Given the description of an element on the screen output the (x, y) to click on. 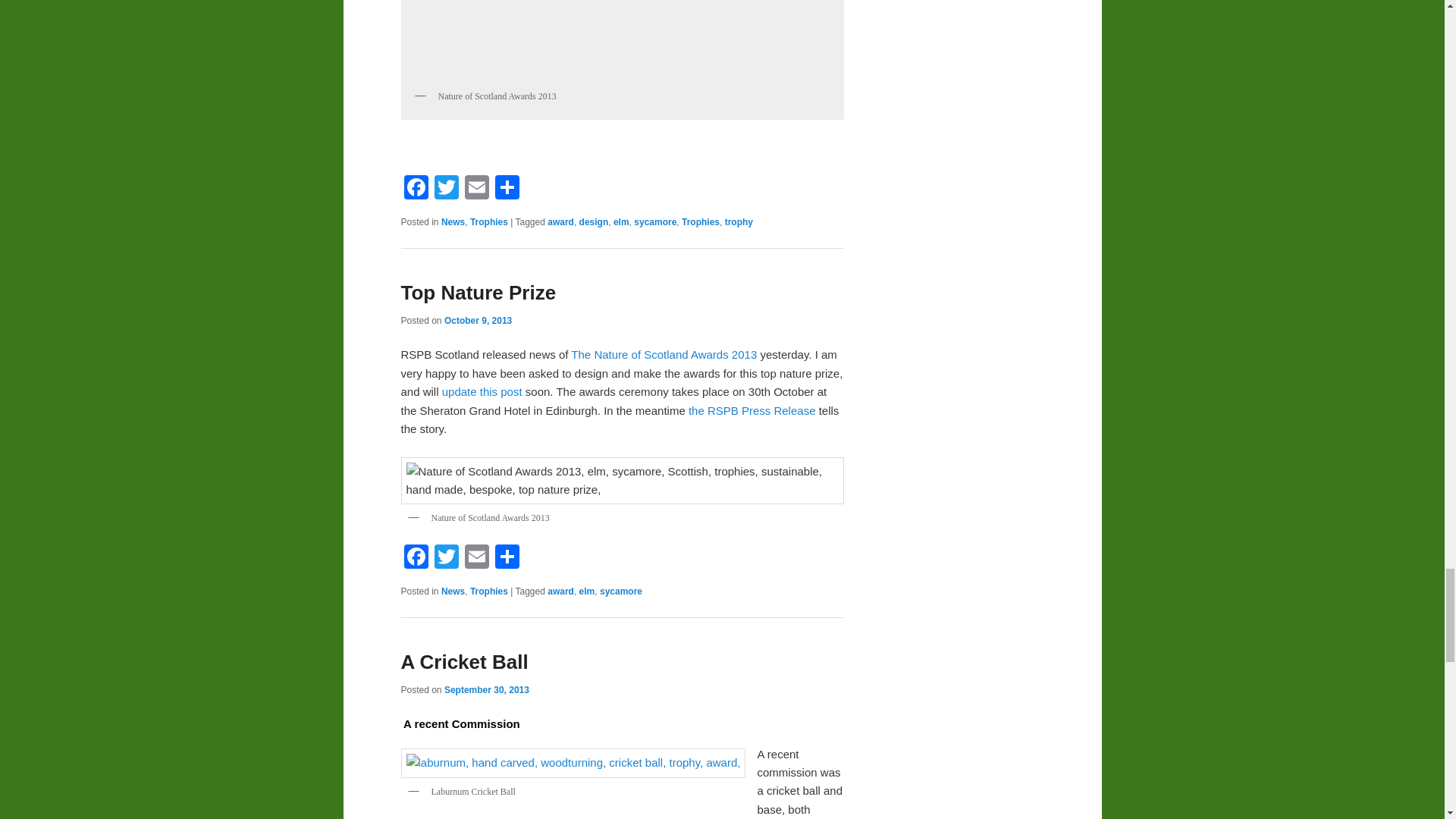
Twitter (445, 189)
Email (476, 558)
Twitter (445, 558)
Facebook (415, 558)
Email (476, 189)
Facebook (415, 189)
